Given the description of an element on the screen output the (x, y) to click on. 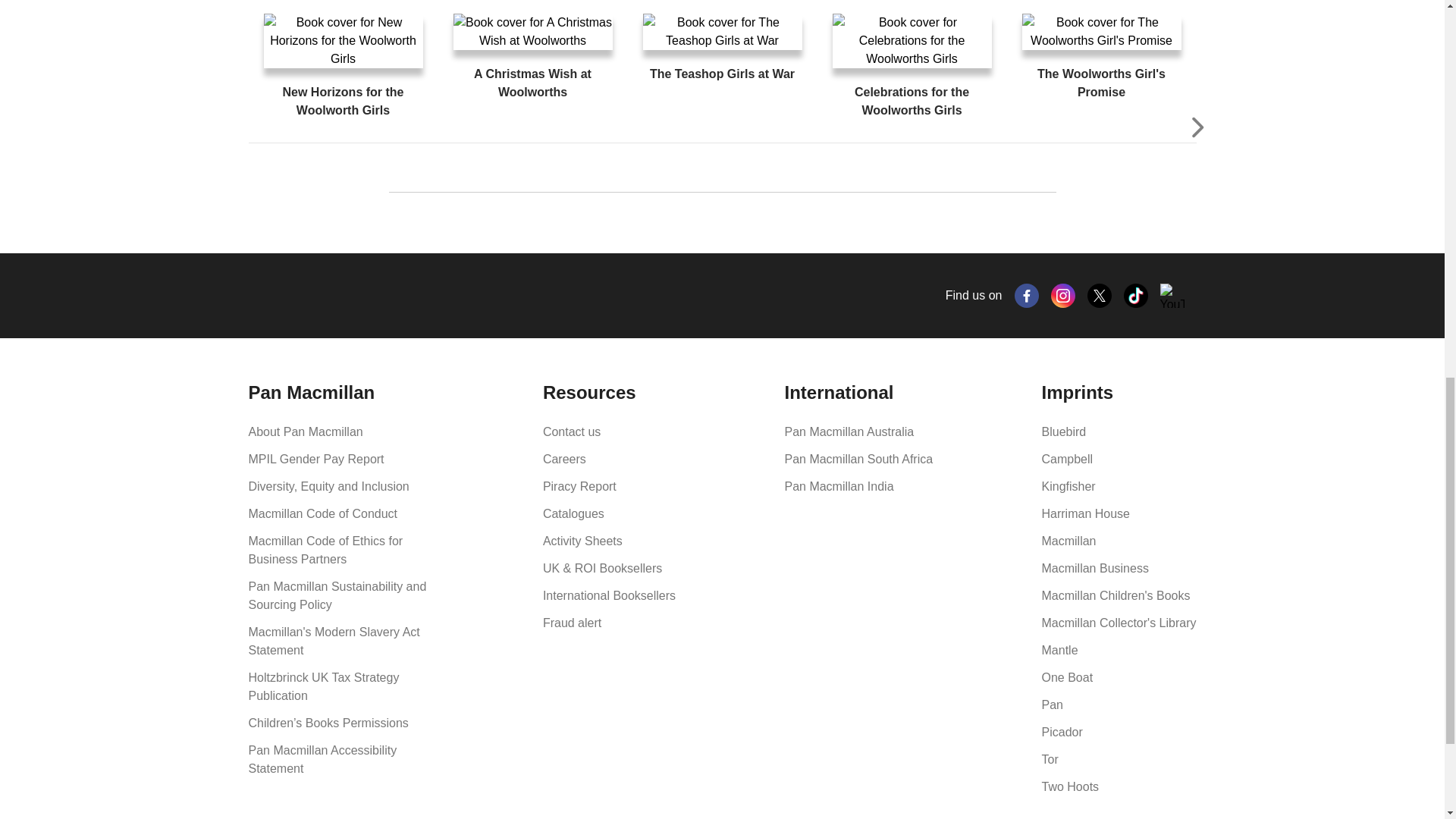
YouTube (1172, 295)
Instagram (1063, 295)
TikTok (1136, 295)
Facebook (1026, 295)
